Given the description of an element on the screen output the (x, y) to click on. 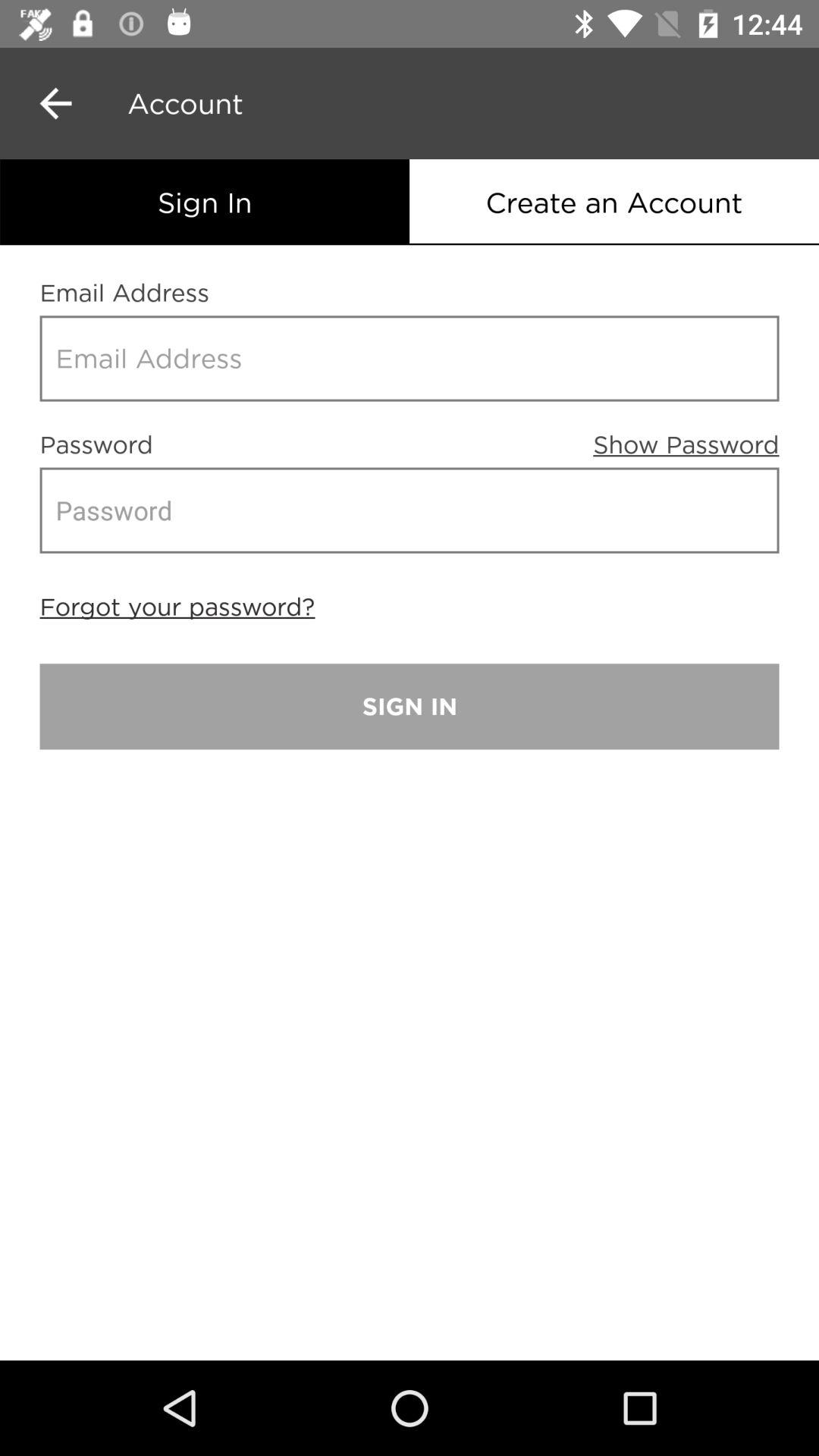
click on the underlined text right to the text password (685, 434)
click on create an account (614, 201)
